Given the description of an element on the screen output the (x, y) to click on. 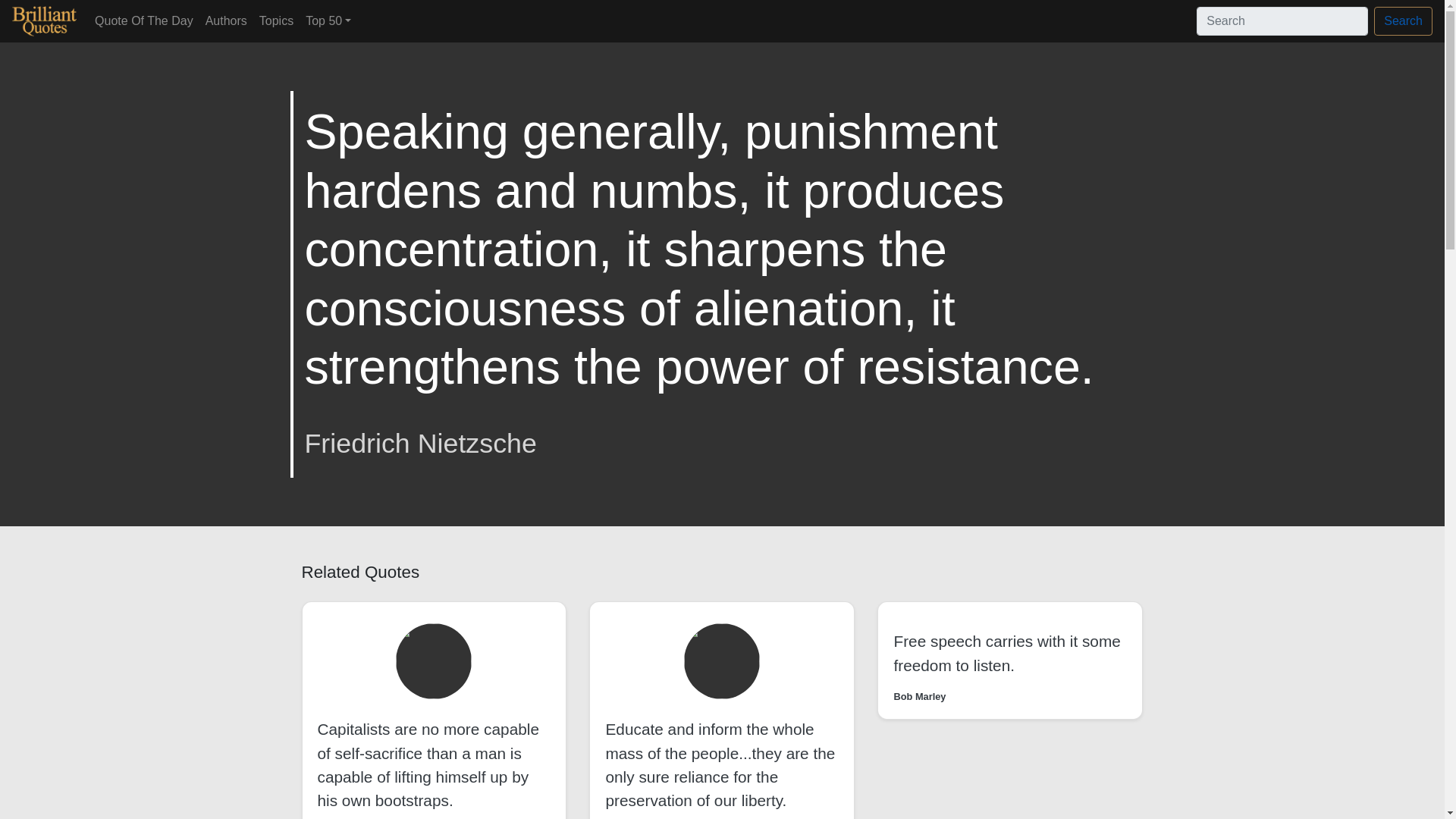
Topics (276, 20)
Quote Of The Day (143, 20)
Authors (226, 20)
Free speech carries with it some freedom to listen. (1006, 652)
Search (1403, 21)
Bob Marley (918, 696)
Top 50 (327, 20)
